Given the description of an element on the screen output the (x, y) to click on. 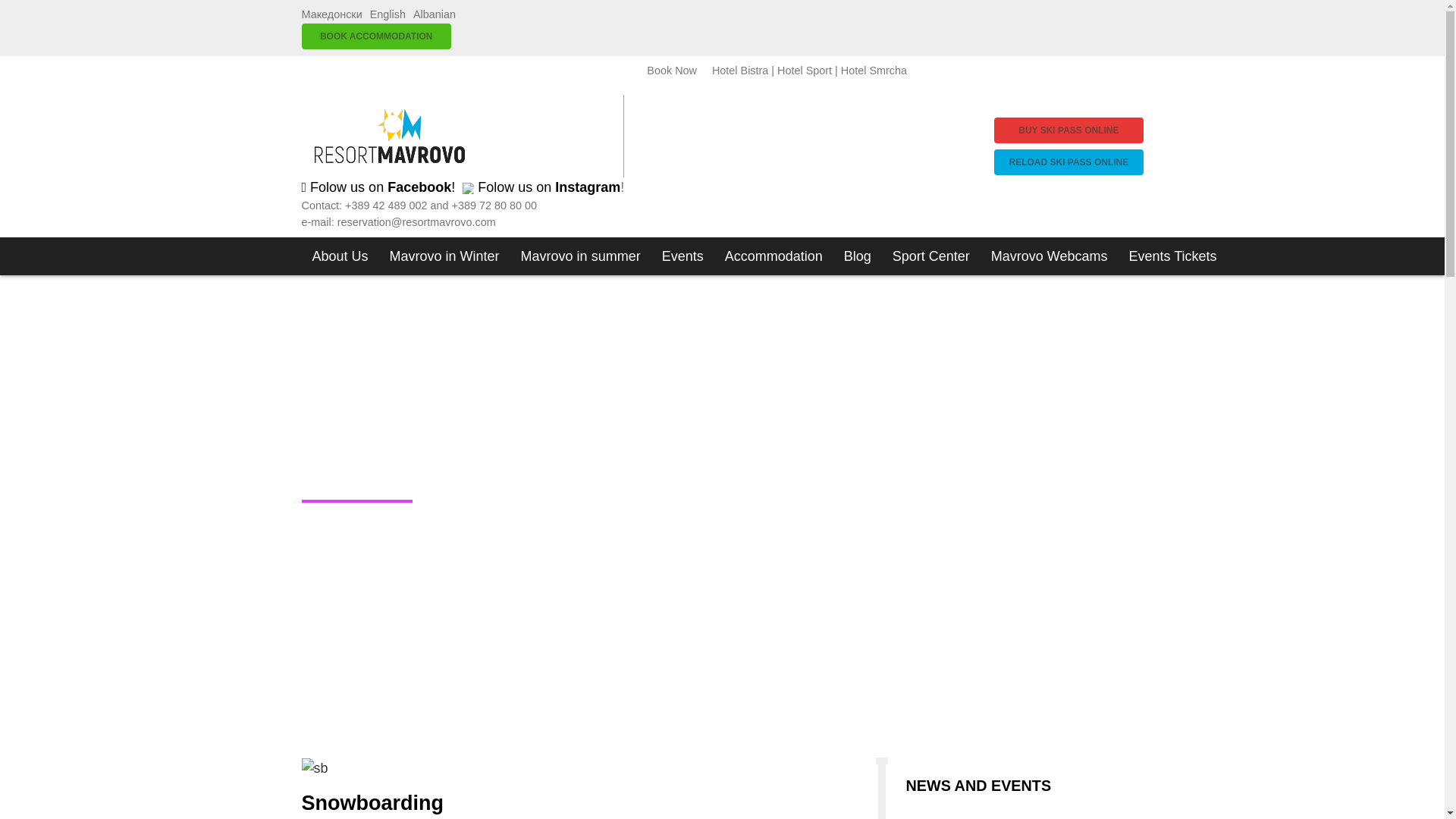
Hotel Smrcha (874, 70)
Hotel Bistra (739, 70)
Home (389, 136)
Hotel Sport (804, 70)
About Us (339, 256)
Albanian (434, 14)
Book Now (671, 70)
Mavrovo in Winter (444, 256)
Mavrovo in summer (580, 256)
Instagram (587, 186)
